Given the description of an element on the screen output the (x, y) to click on. 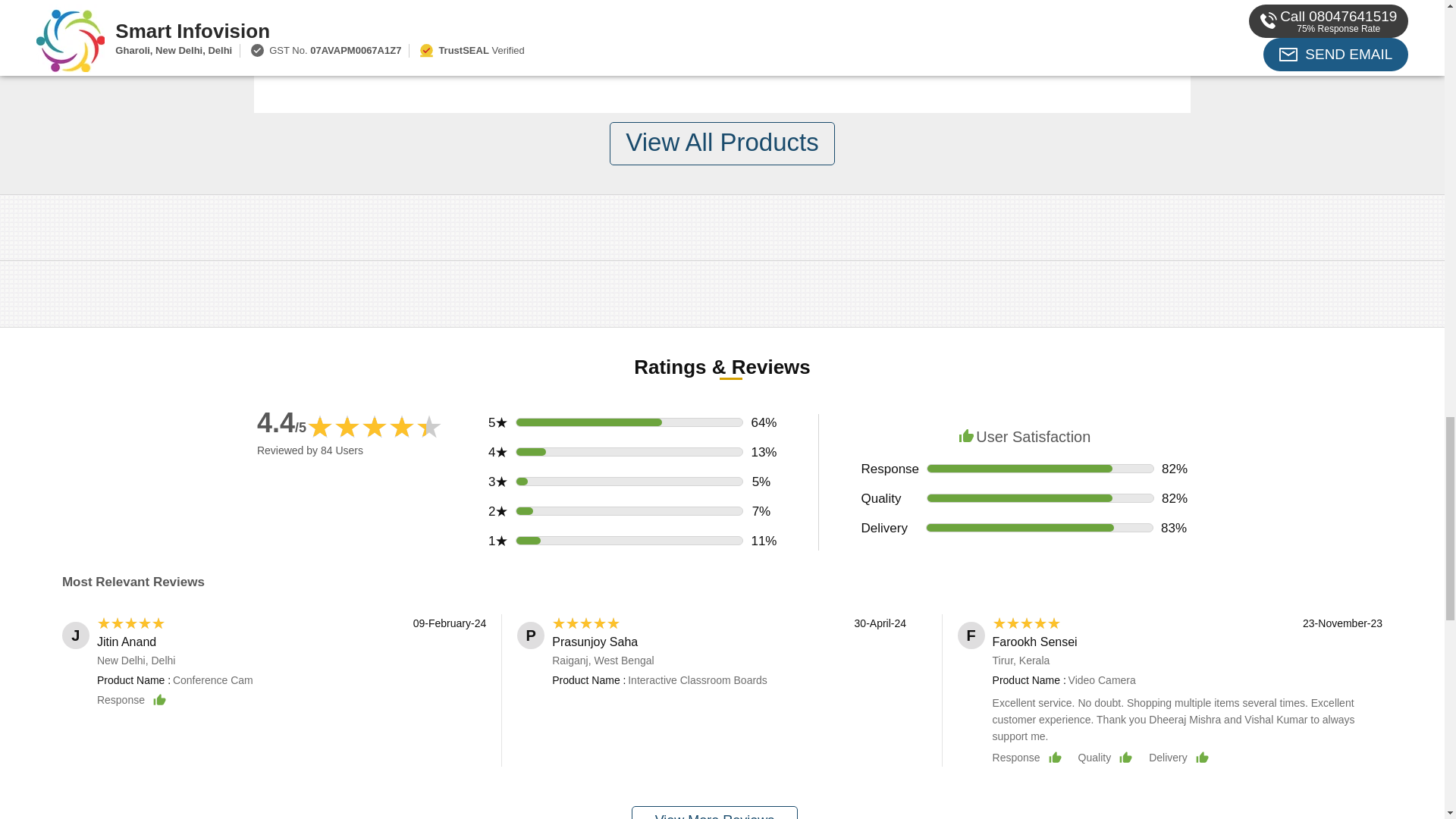
4.4 out of 5 Votes (281, 422)
View All Products (722, 143)
75 Inch LG Interactive Classroom Boards (829, 9)
65 Inch Galaxy 11 Interactive Flat Panel (379, 9)
75 Inch Maxhub Interactive Classroom Boards (1055, 9)
55 Inch Alpha 11 Interactive Flat Panel (605, 9)
View More Reviews (714, 812)
